Given the description of an element on the screen output the (x, y) to click on. 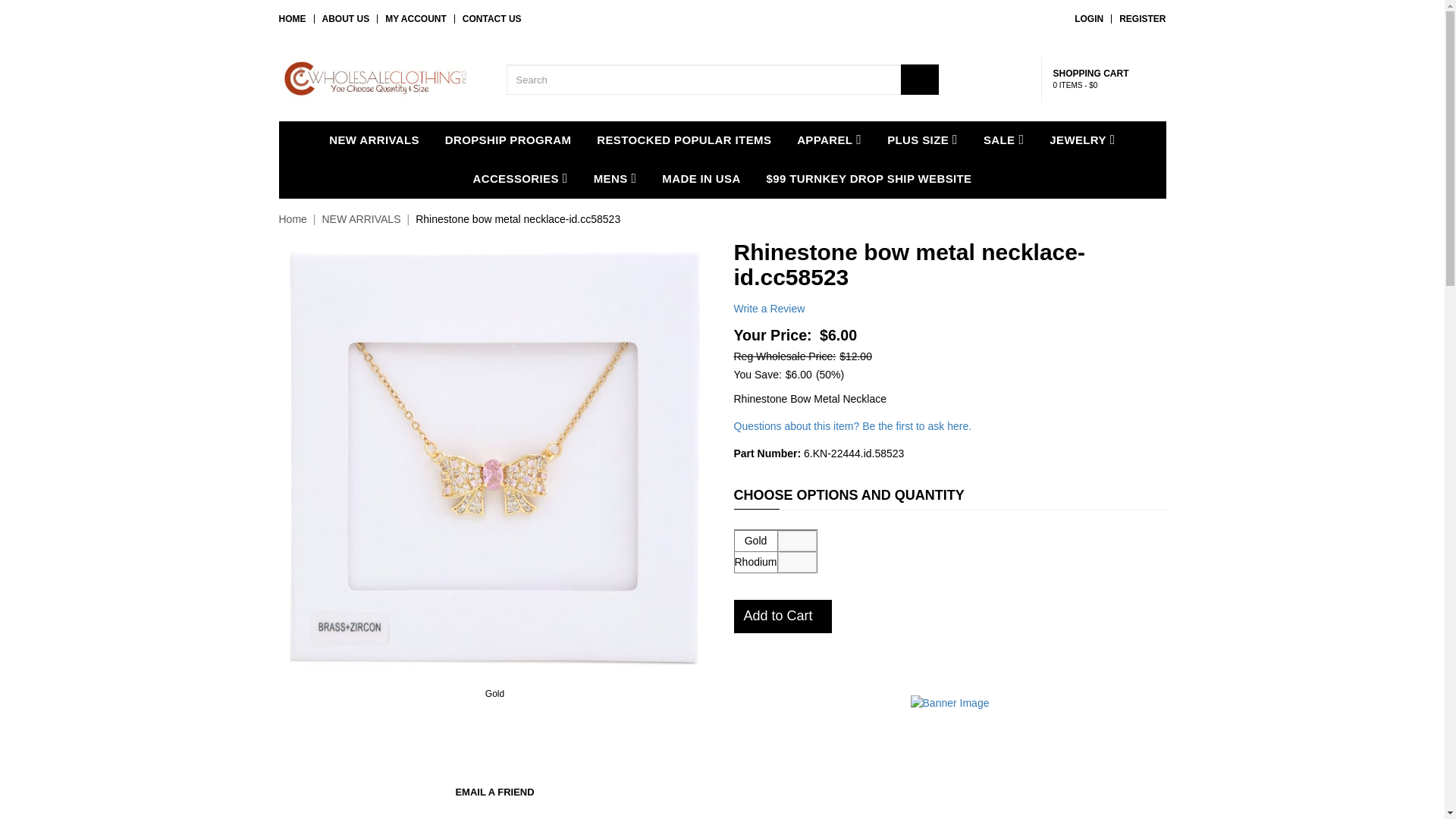
MY ACCOUNT (415, 18)
HOME (292, 18)
SALE (1003, 139)
LOGIN (1088, 18)
CONTACT US (492, 18)
ABOUT US (345, 18)
Gold  (495, 693)
NEW ARRIVALS (373, 140)
APPAREL (829, 139)
DROPSHIP PROGRAM (508, 140)
